Given the description of an element on the screen output the (x, y) to click on. 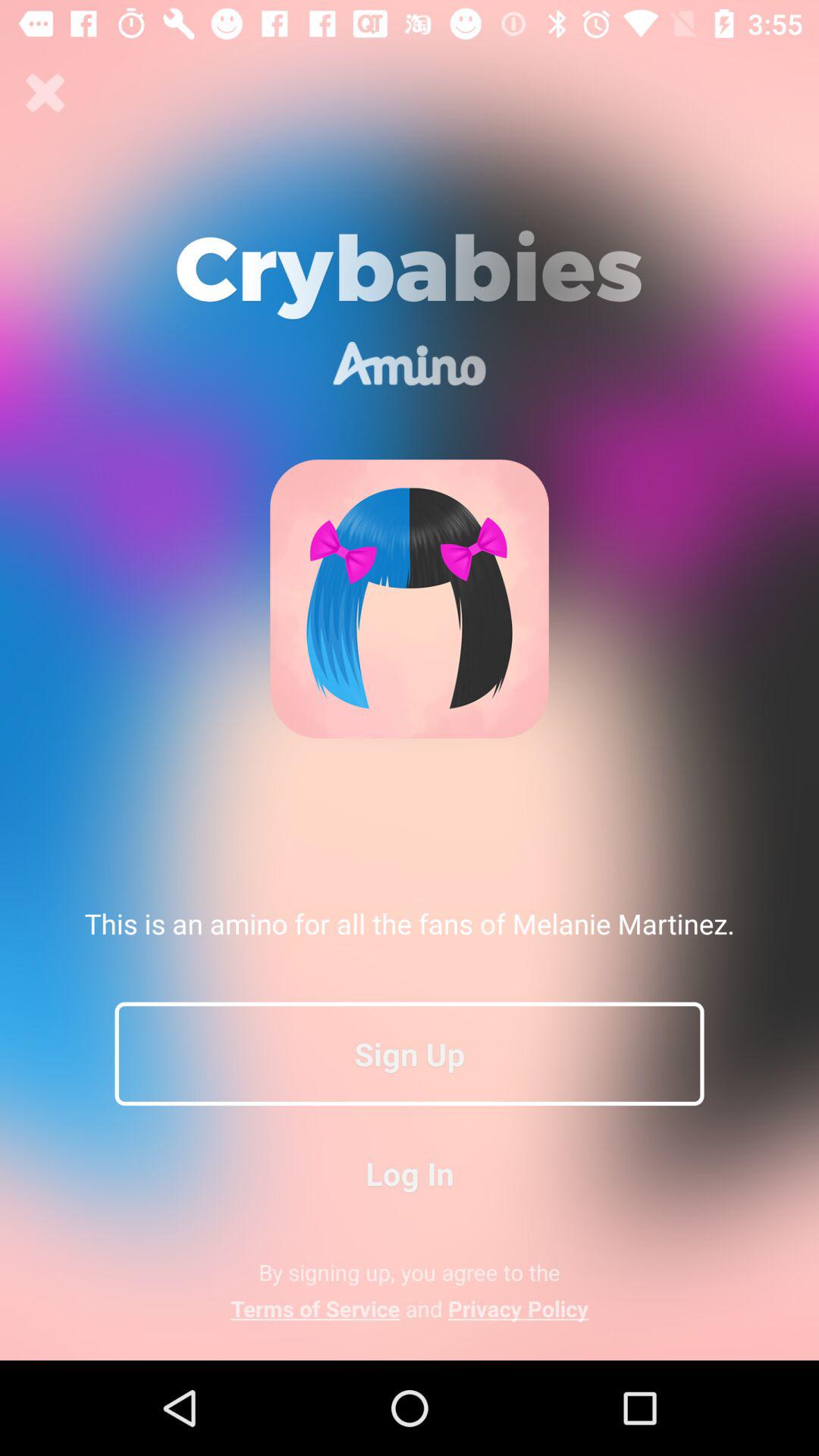
open sign up (409, 1053)
